Given the description of an element on the screen output the (x, y) to click on. 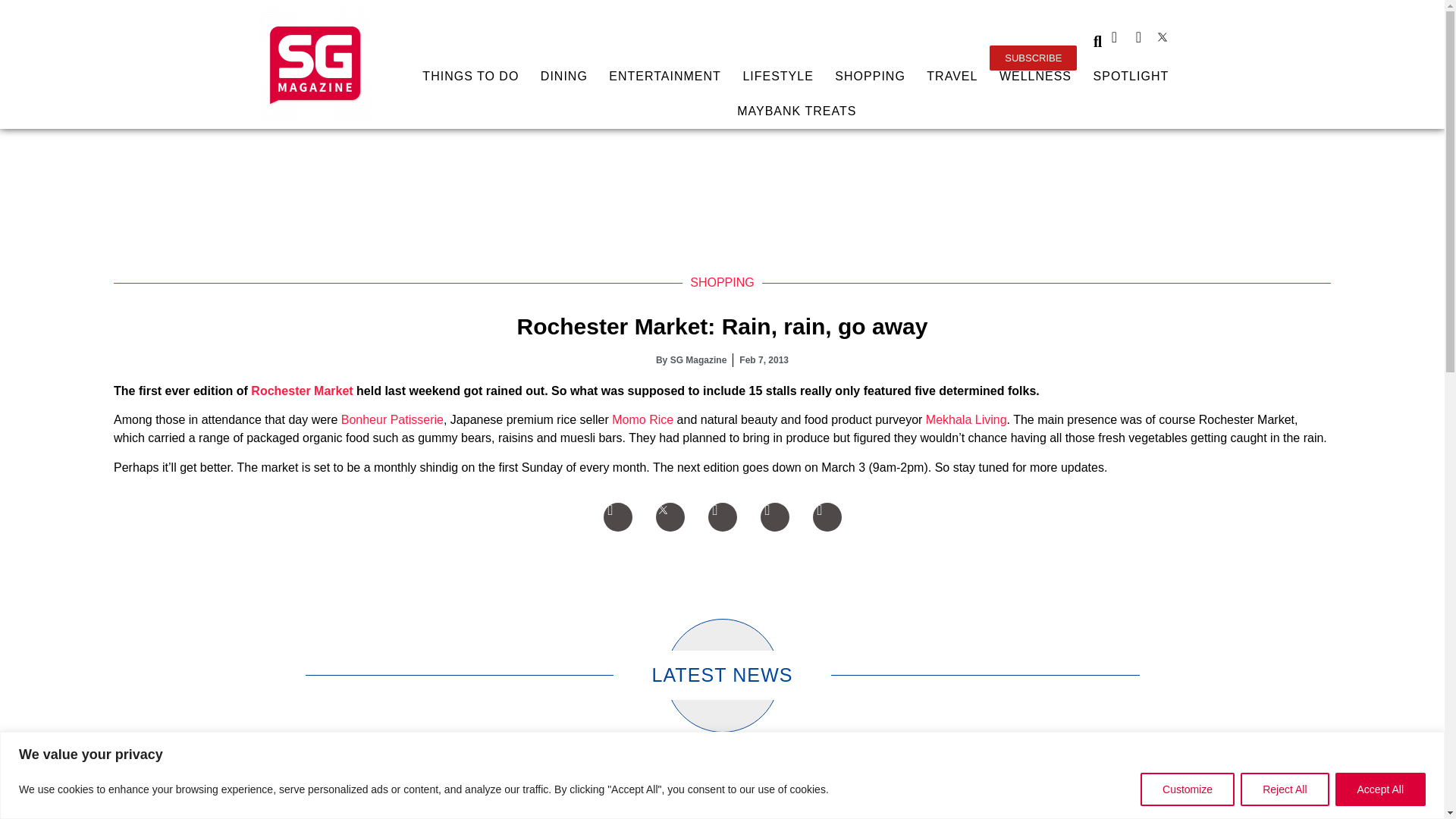
THINGS TO DO (470, 76)
DINING (563, 76)
Reject All (1283, 788)
LIFESTYLE (778, 76)
TRAVEL (952, 76)
SPOTLIGHT (1130, 76)
SHOPPING (870, 76)
WELLNESS (1035, 76)
Customize (1187, 788)
Accept All (1380, 788)
ENTERTAINMENT (664, 76)
SUBSCRIBE (1033, 57)
SG MAG LOGO (315, 64)
MAYBANK TREATS (796, 111)
